Given the description of an element on the screen output the (x, y) to click on. 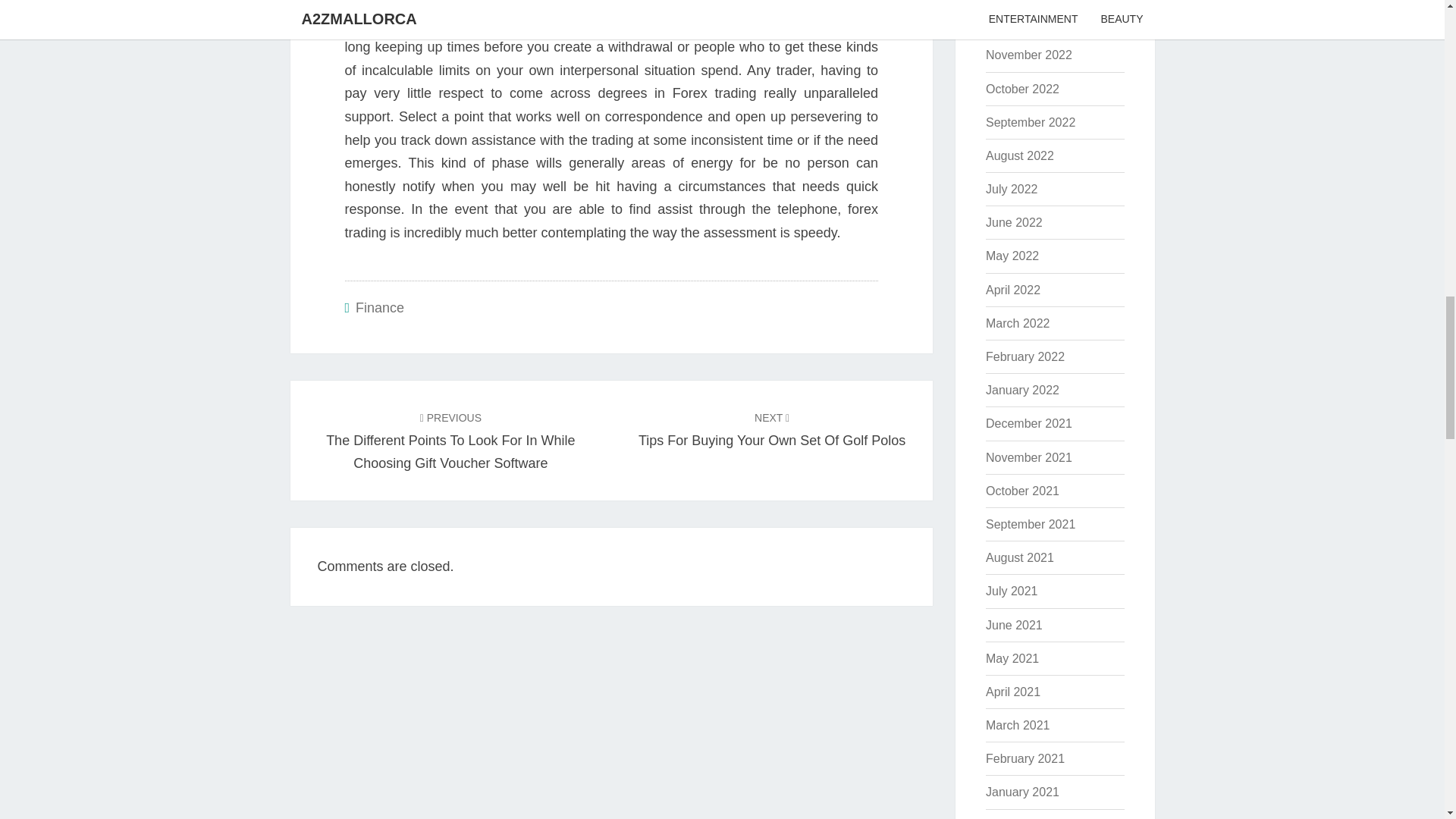
April 2022 (1013, 289)
Finance (379, 307)
October 2022 (1022, 88)
July 2022 (1011, 188)
December 2022 (1028, 21)
August 2022 (1019, 155)
November 2022 (1028, 54)
September 2022 (772, 428)
May 2022 (1030, 122)
June 2022 (1012, 255)
